Given the description of an element on the screen output the (x, y) to click on. 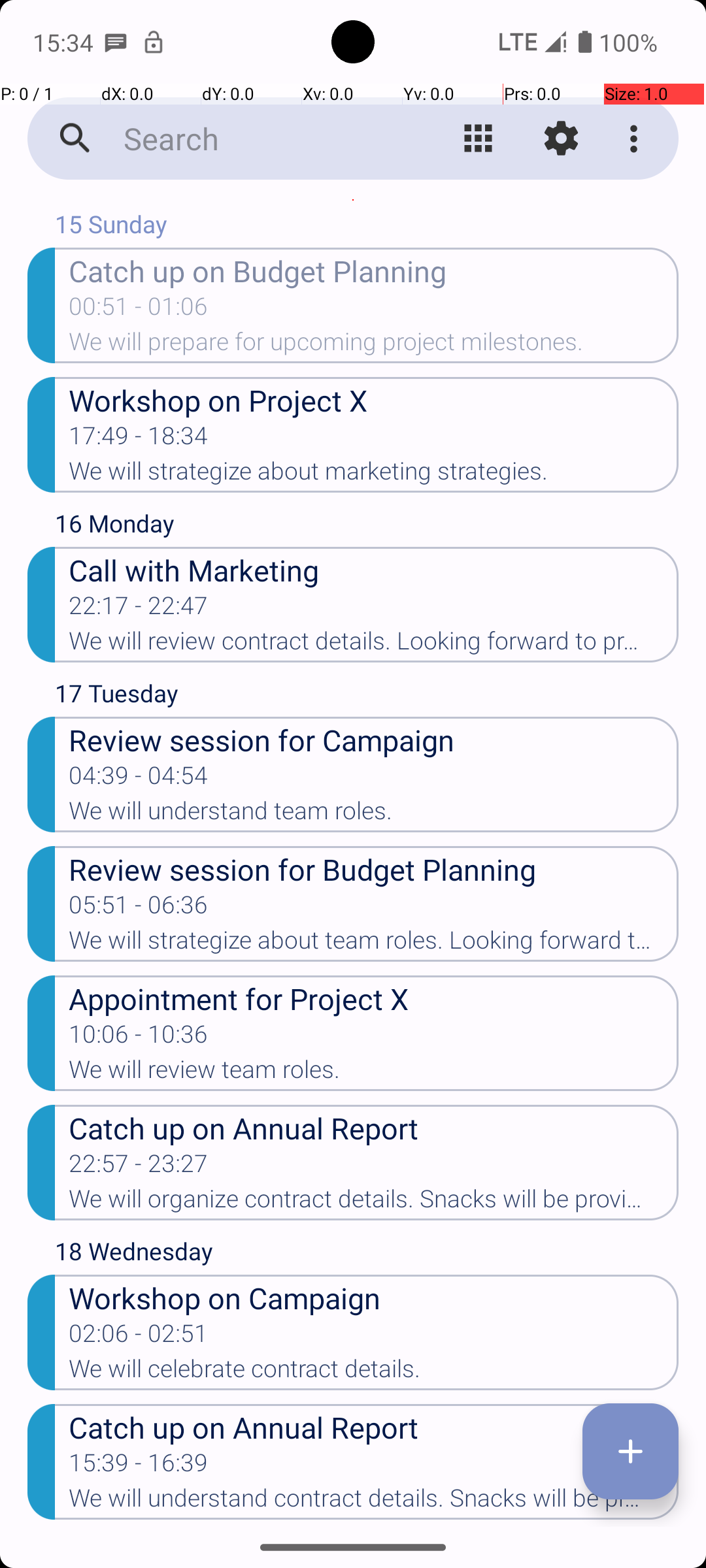
00:51 - 01:06 Element type: android.widget.TextView (137, 309)
We will prepare for upcoming project milestones. Element type: android.widget.TextView (373, 345)
17:49 - 18:34 Element type: android.widget.TextView (137, 439)
We will strategize about marketing strategies. Element type: android.widget.TextView (373, 474)
22:17 - 22:47 Element type: android.widget.TextView (137, 609)
We will review contract details. Looking forward to productive discussions. Element type: android.widget.TextView (373, 644)
04:39 - 04:54 Element type: android.widget.TextView (137, 779)
We will understand team roles. Element type: android.widget.TextView (373, 814)
05:51 - 06:36 Element type: android.widget.TextView (137, 908)
We will strategize about team roles. Looking forward to productive discussions. Element type: android.widget.TextView (373, 943)
10:06 - 10:36 Element type: android.widget.TextView (137, 1037)
We will review team roles. Element type: android.widget.TextView (373, 1073)
22:57 - 23:27 Element type: android.widget.TextView (137, 1167)
We will organize contract details. Snacks will be provided. Element type: android.widget.TextView (373, 1202)
02:06 - 02:51 Element type: android.widget.TextView (137, 1337)
We will celebrate contract details. Element type: android.widget.TextView (373, 1372)
15:39 - 16:39 Element type: android.widget.TextView (137, 1466)
We will understand contract details. Snacks will be provided. Element type: android.widget.TextView (373, 1501)
